Given the description of an element on the screen output the (x, y) to click on. 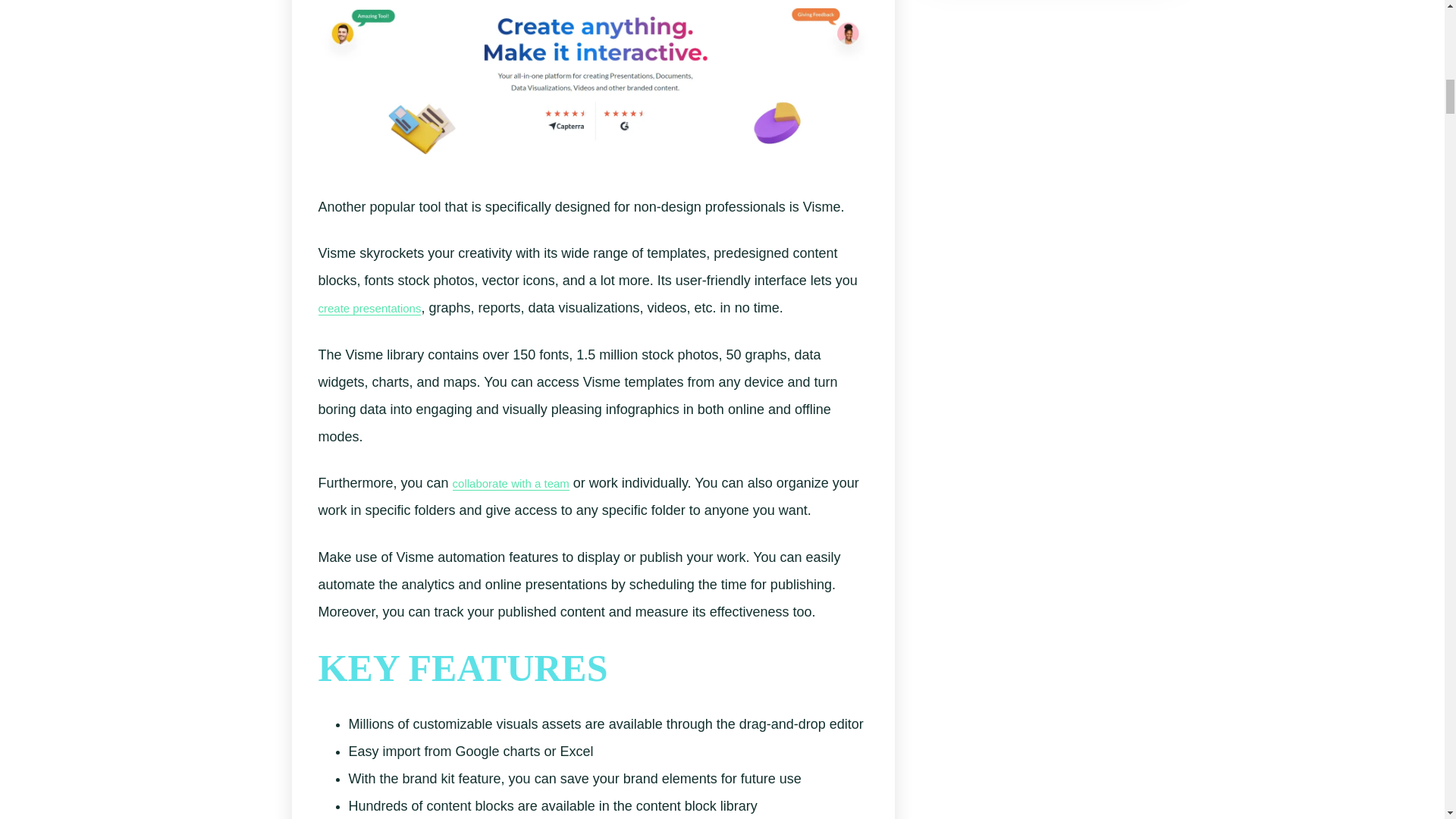
visme (592, 86)
12 Best Team Collaboration Tools, Apps, and Software (510, 483)
create presentations (370, 308)
collaborate with a team (510, 483)
